Given the description of an element on the screen output the (x, y) to click on. 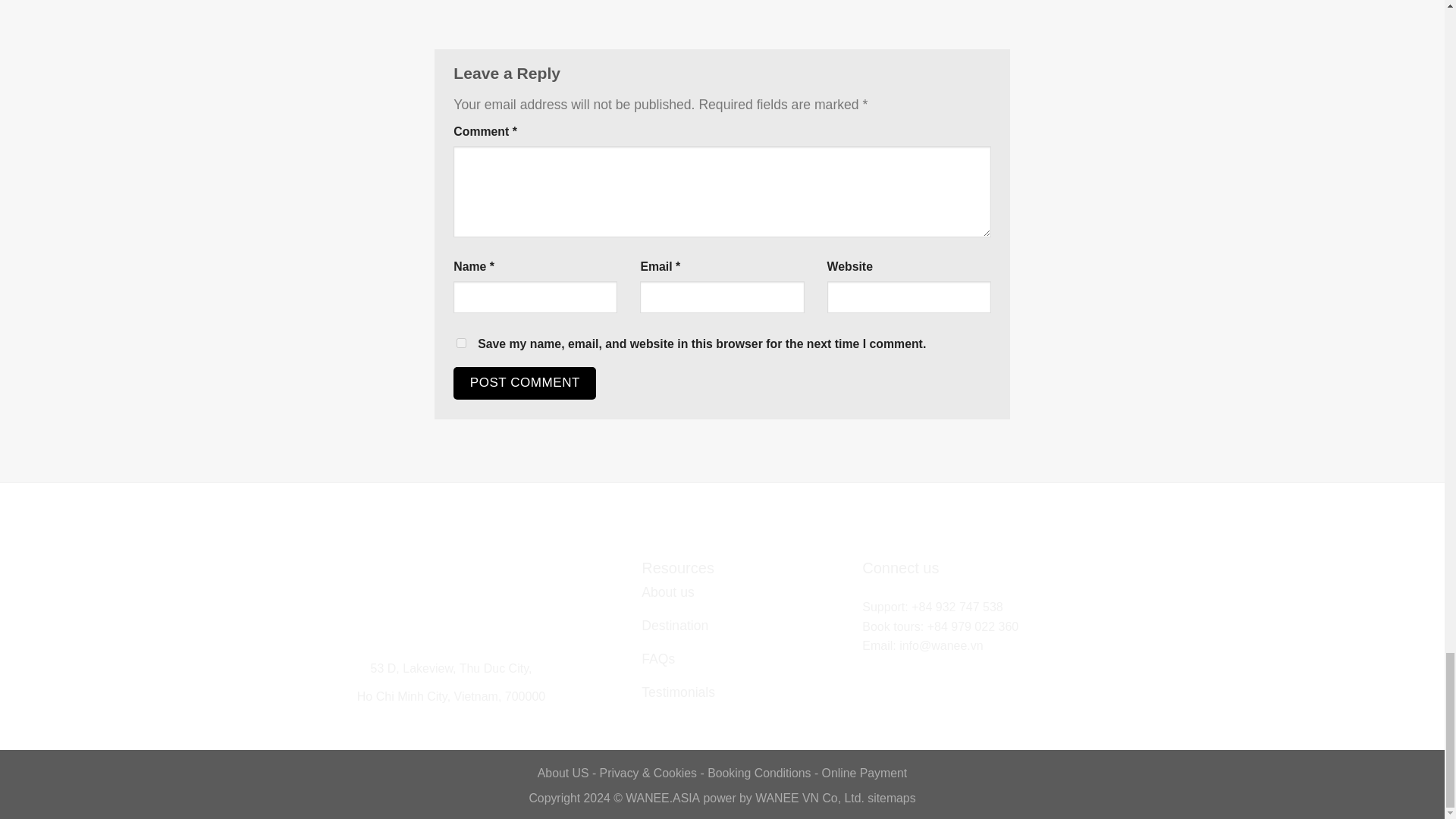
Post Comment (523, 382)
Follow on Facebook (872, 667)
yes (461, 343)
Follow on Instagram (892, 667)
